Given the description of an element on the screen output the (x, y) to click on. 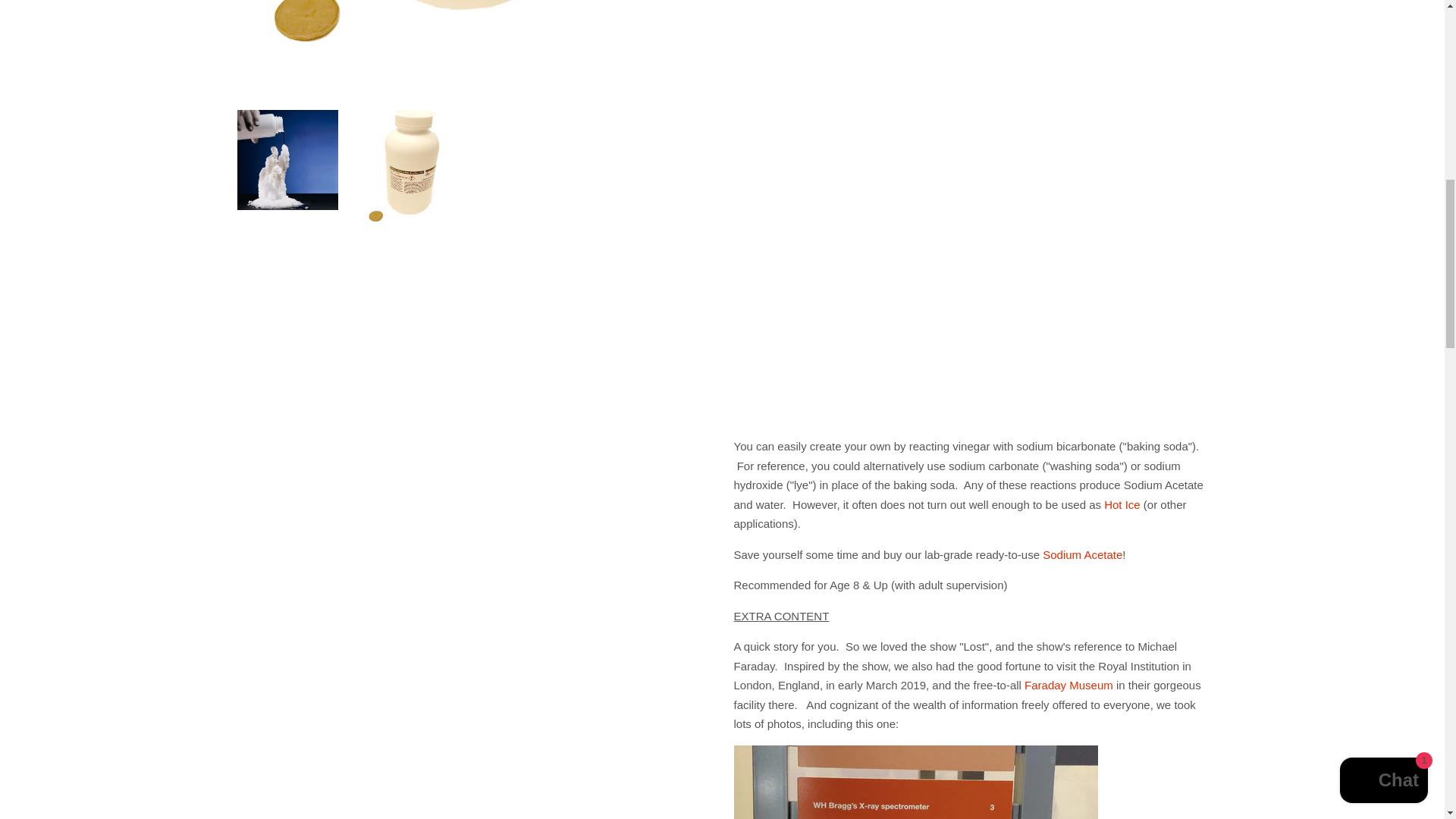
RI Faraday Museum (1069, 684)
Sodium Acetate (1121, 504)
YouTube video player (945, 81)
Sodium Acetate (1082, 554)
